Given the description of an element on the screen output the (x, y) to click on. 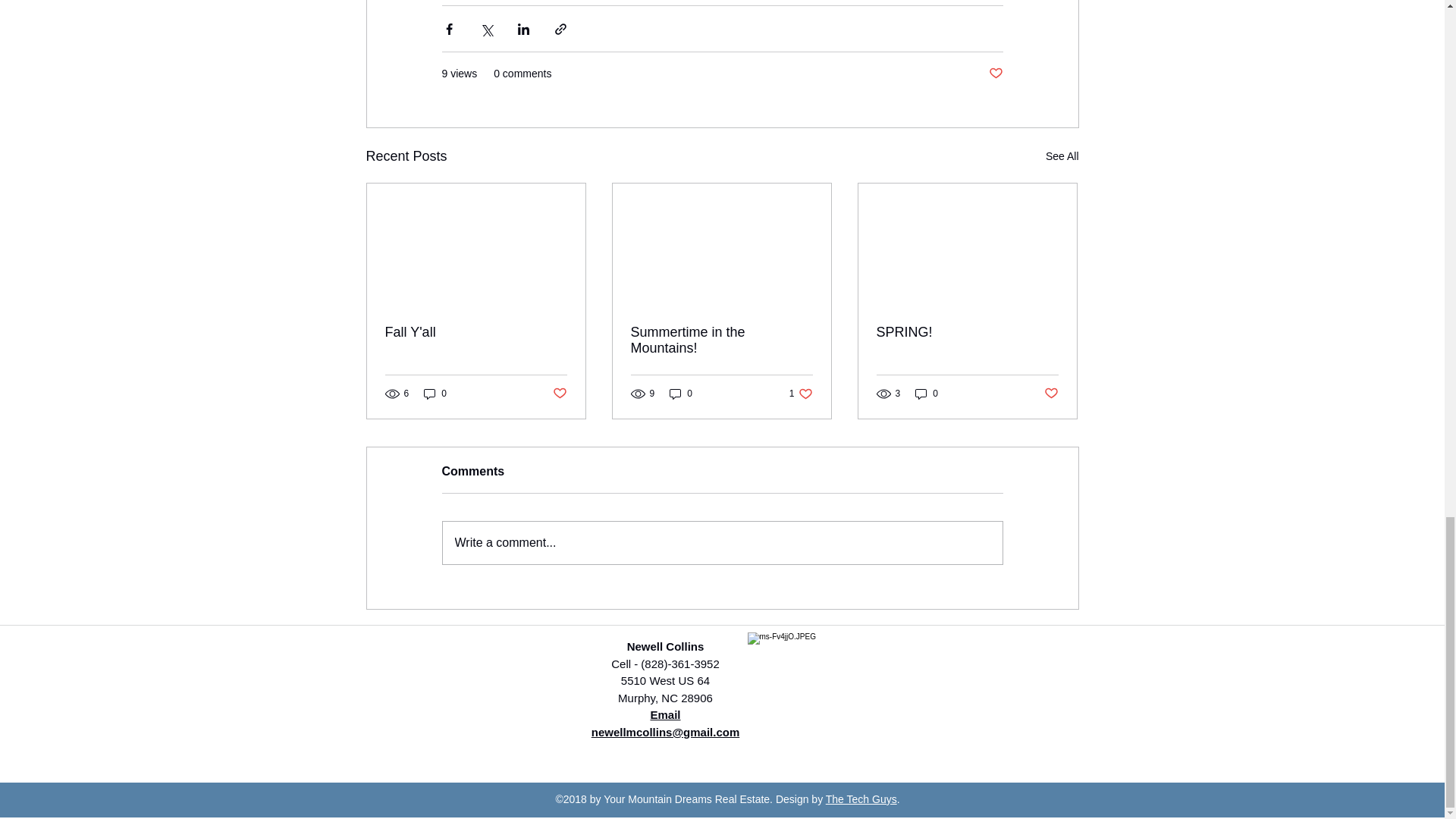
Post not marked as liked (1050, 393)
SPRING! (967, 332)
See All (800, 392)
0 (1061, 156)
Post not marked as liked (681, 392)
Summertime in the Mountains! (558, 393)
Fall Y'all (721, 340)
0 (476, 332)
Post not marked as liked (435, 392)
0 (995, 73)
